Given the description of an element on the screen output the (x, y) to click on. 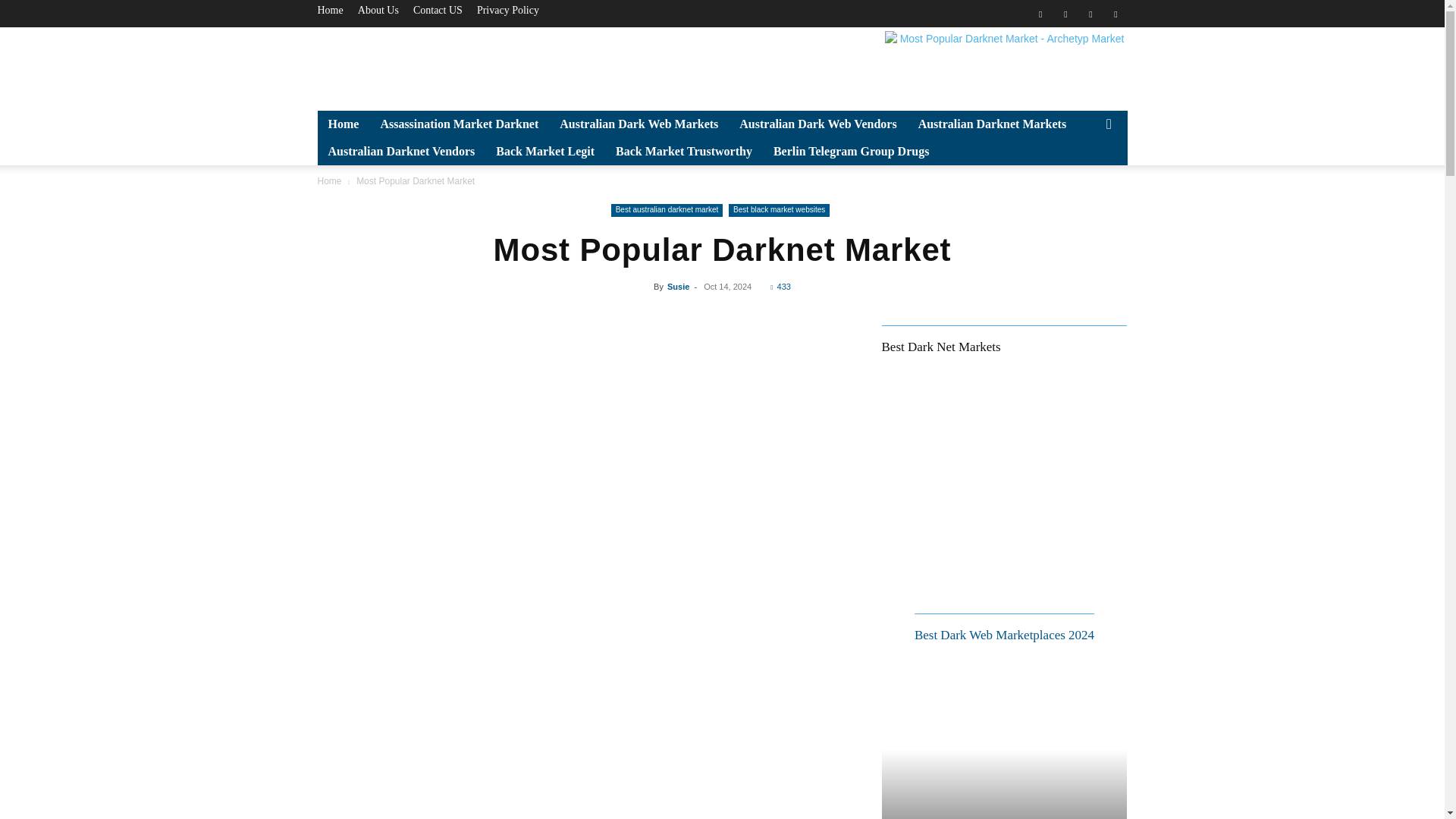
About Us (378, 9)
Australian Dark Web Vendors (818, 124)
Assassination Market Darknet (458, 124)
Privacy Policy (507, 9)
Berlin Telegram Group Drugs (851, 151)
Australian Darknet Vendors (400, 151)
Contact US (438, 9)
Home (329, 9)
Most Popular Darknet Market - Archetyp Market (1004, 65)
Back Market Legit (544, 151)
